Given the description of an element on the screen output the (x, y) to click on. 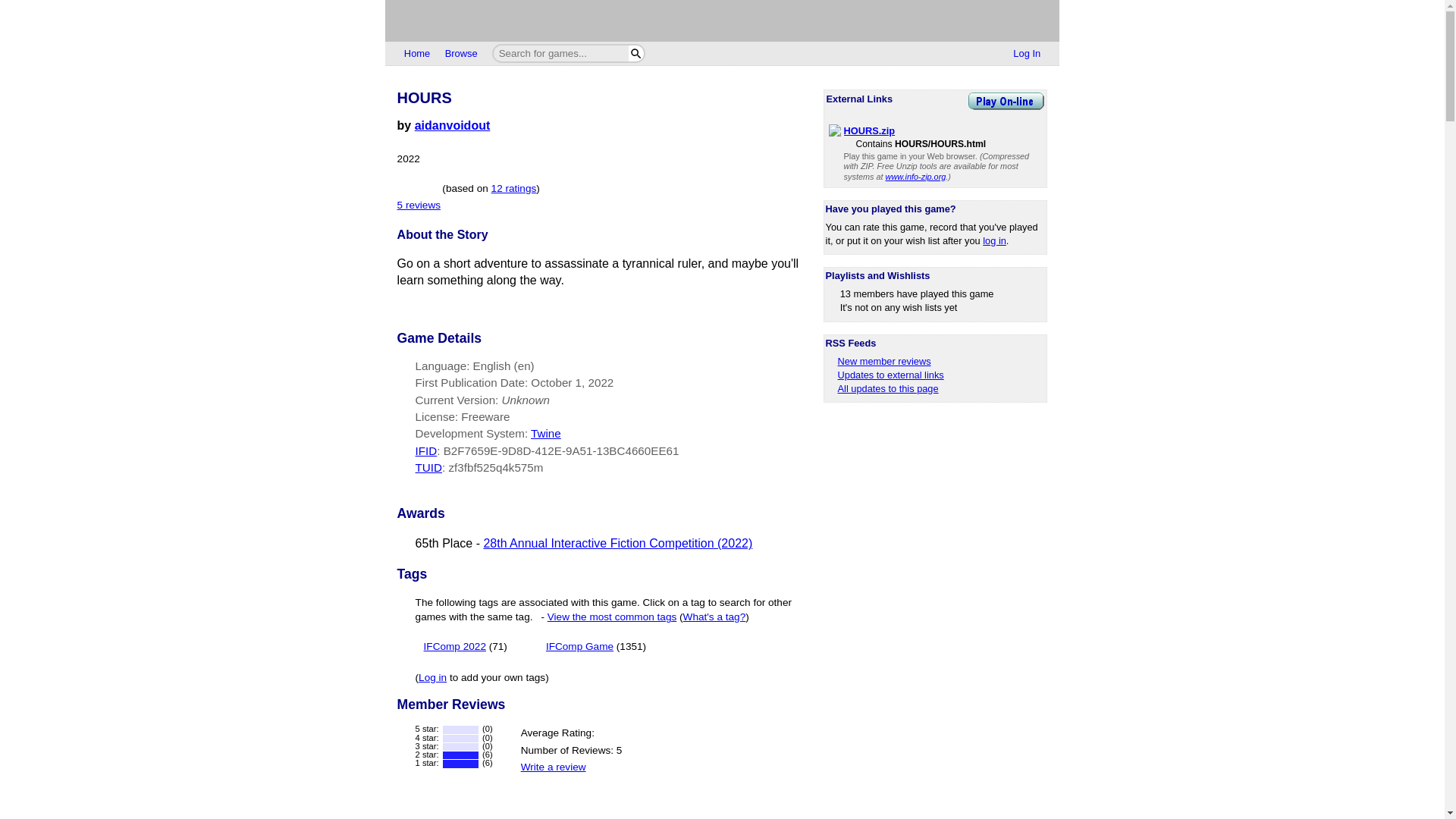
Updates to external links (884, 374)
Log in (432, 677)
Log In (1027, 53)
IFID (426, 450)
12 ratings (514, 188)
Browse (461, 53)
13 members have played this game (917, 293)
Search for games tagged with IFComp Game (596, 645)
IFComp 2022 (454, 645)
Home (417, 53)
View all ratings and reviews for this game (514, 188)
Search for games tagged with IFComp 2022 (464, 645)
HOURS.zip (869, 130)
Write a review (553, 767)
aidanvoidout (452, 124)
